Given the description of an element on the screen output the (x, y) to click on. 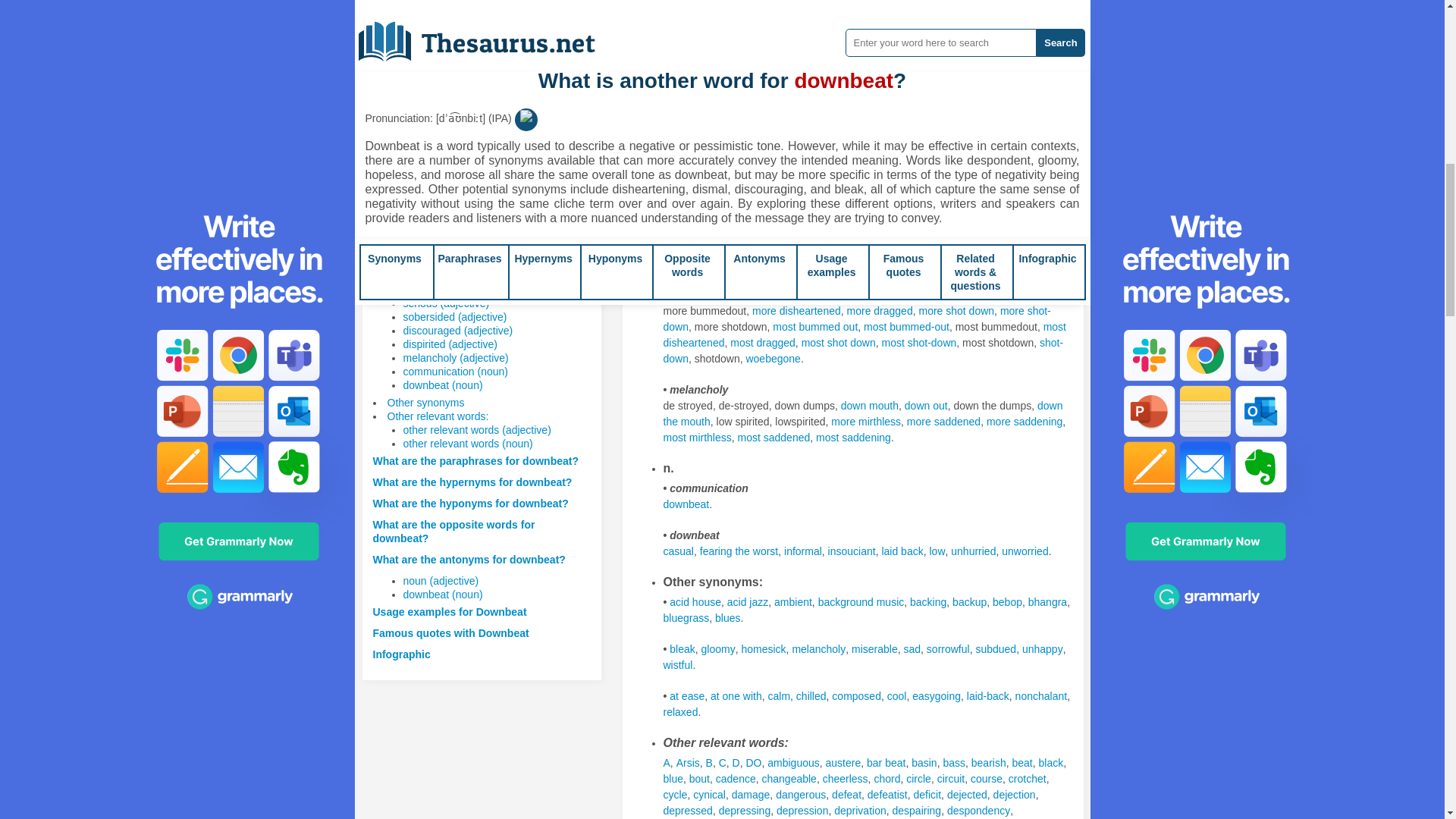
What are the hypernyms for downbeat? (472, 481)
Synonyms for Downbeat (1000, 136)
Synonyms for Downbeat (686, 42)
Synonyms for Downbeat (863, 160)
Synonyms for Downbeat (989, 42)
Infographic (401, 654)
Synonyms for Downbeat (874, 152)
Synonyms for Downbeat (926, 152)
Other synonyms (425, 402)
What are the hyponyms for downbeat? (470, 503)
